Given the description of an element on the screen output the (x, y) to click on. 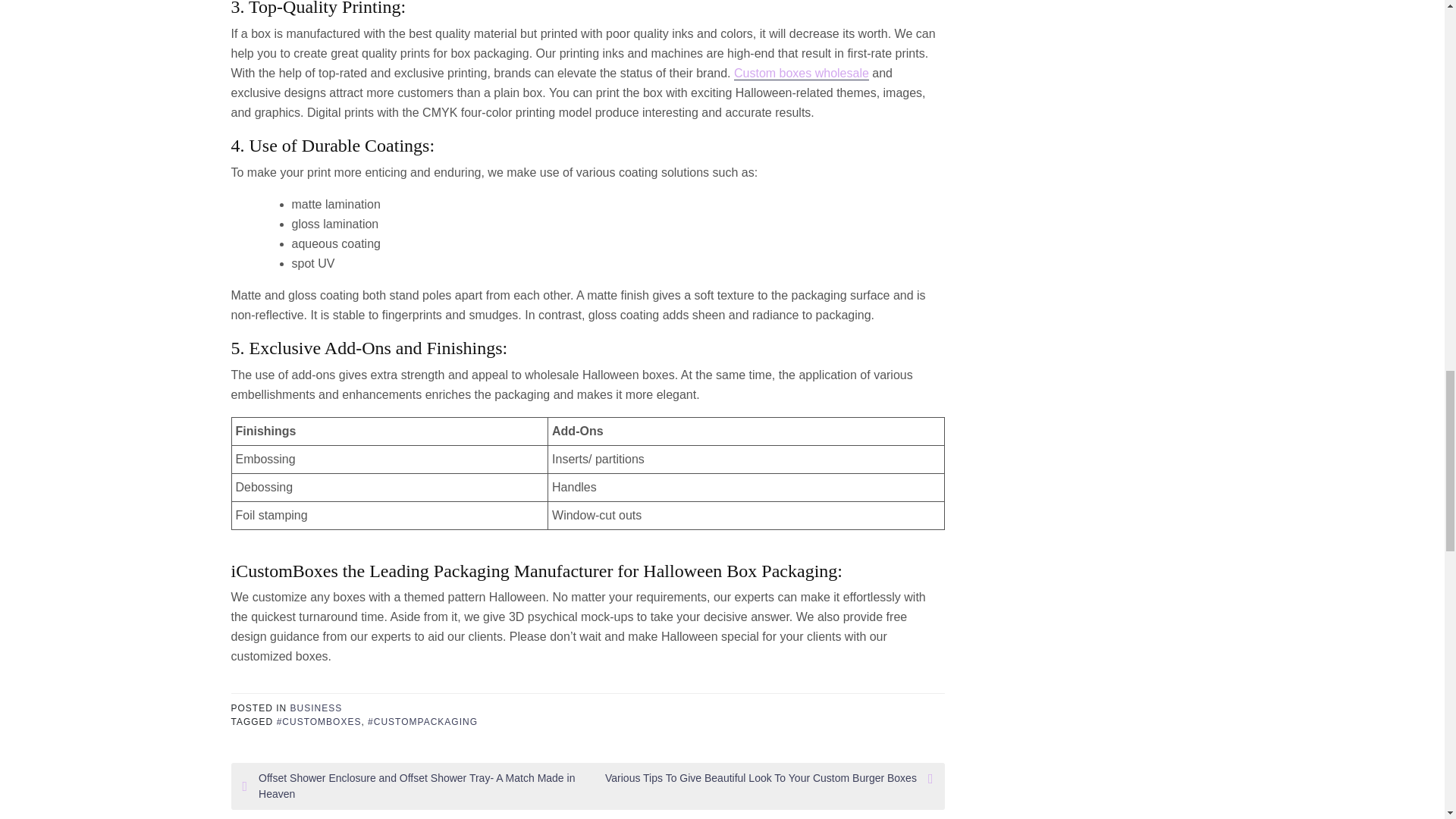
BUSINESS (315, 707)
Custom boxes wholesale (801, 73)
